Given the description of an element on the screen output the (x, y) to click on. 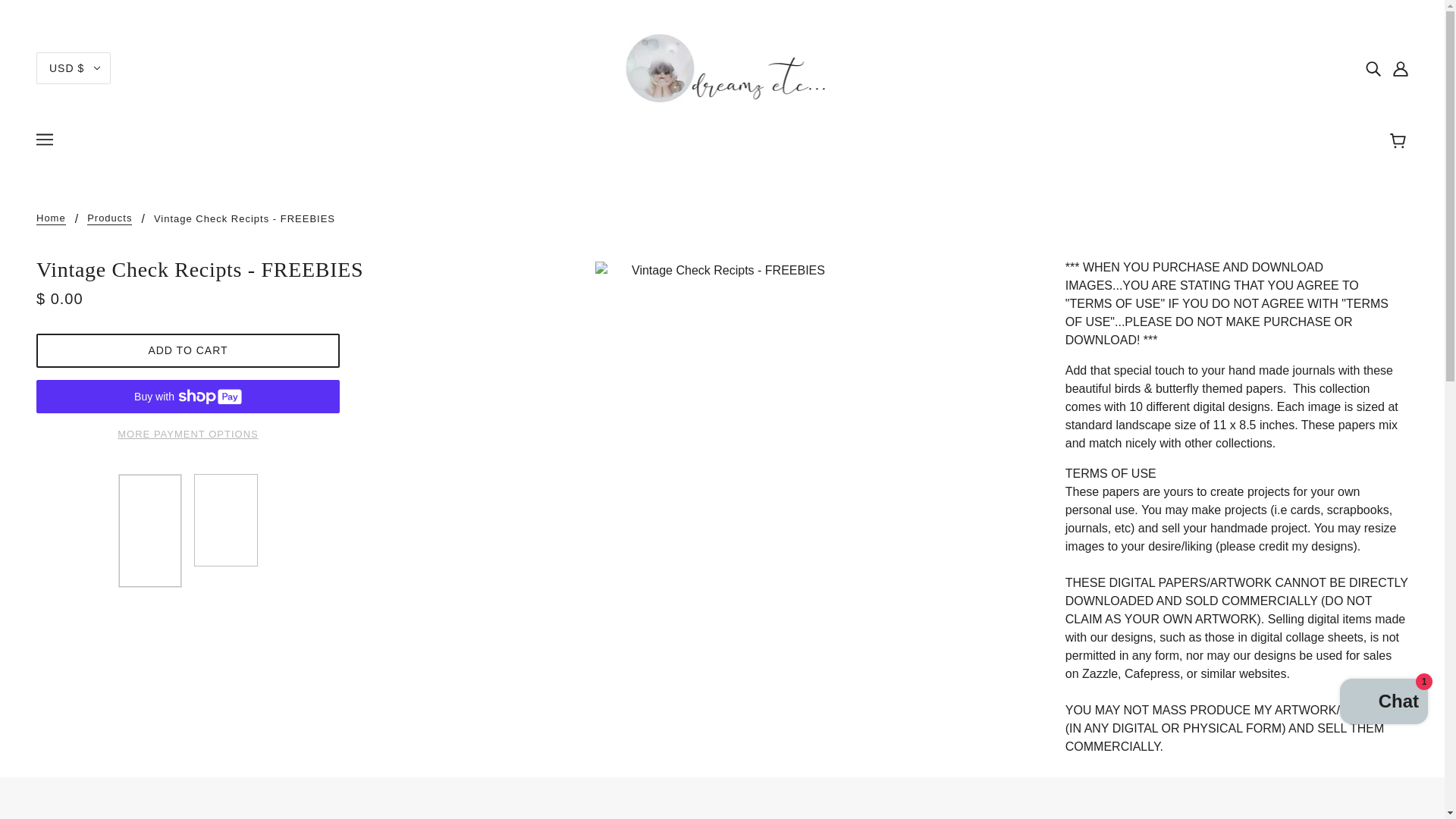
Products (109, 218)
ADD TO CART (187, 350)
Shopify online store chat (1383, 703)
MORE PAYMENT OPTIONS (187, 428)
Home (50, 218)
Dreamz Etc (722, 66)
